Given the description of an element on the screen output the (x, y) to click on. 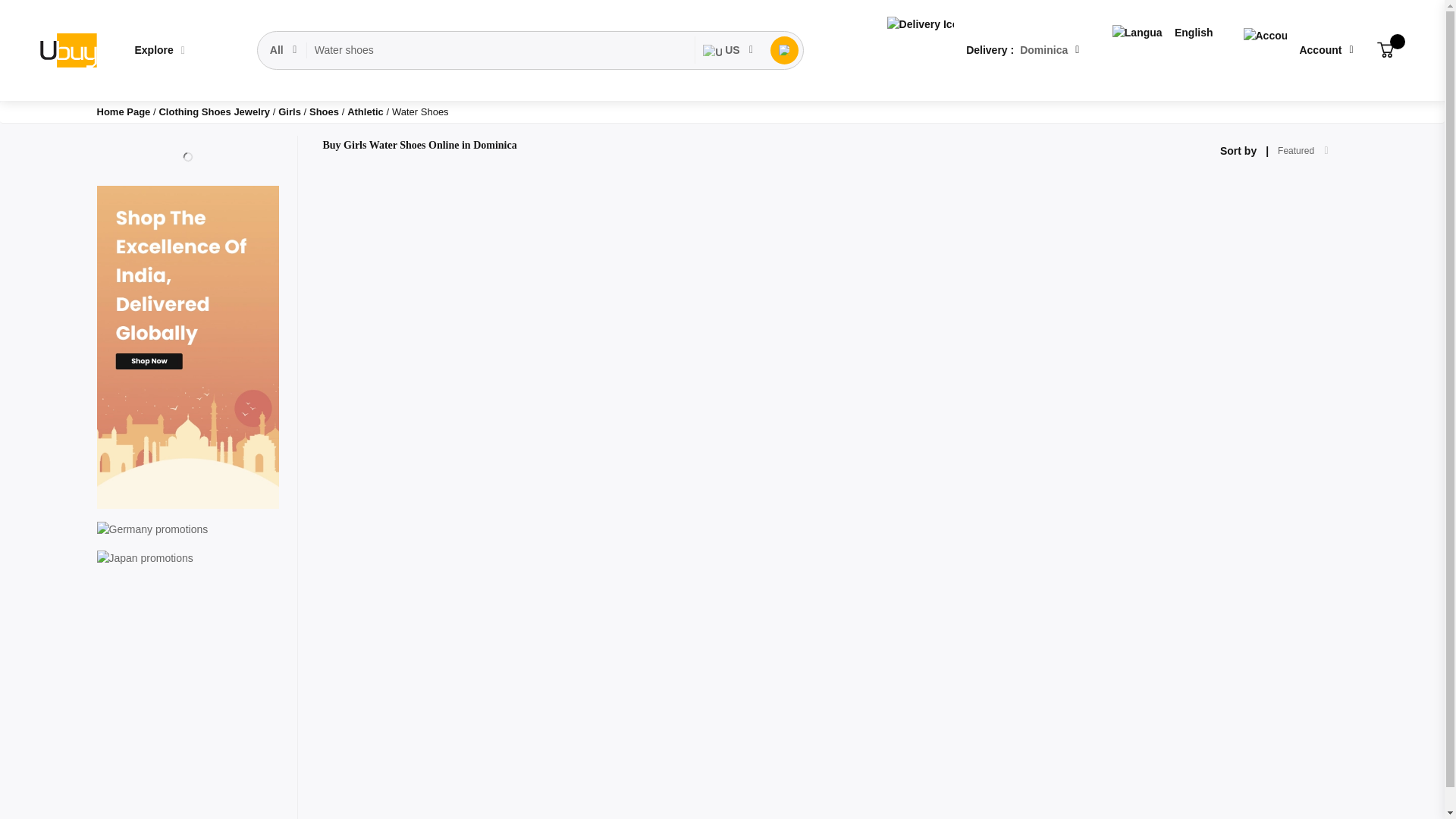
Water shoes (500, 49)
All (283, 50)
Clothing Shoes Jewelry (215, 111)
Cart (1385, 49)
Home Page (124, 111)
Ubuy (67, 50)
US (728, 50)
Water shoes (500, 49)
Home Page (124, 111)
